Given the description of an element on the screen output the (x, y) to click on. 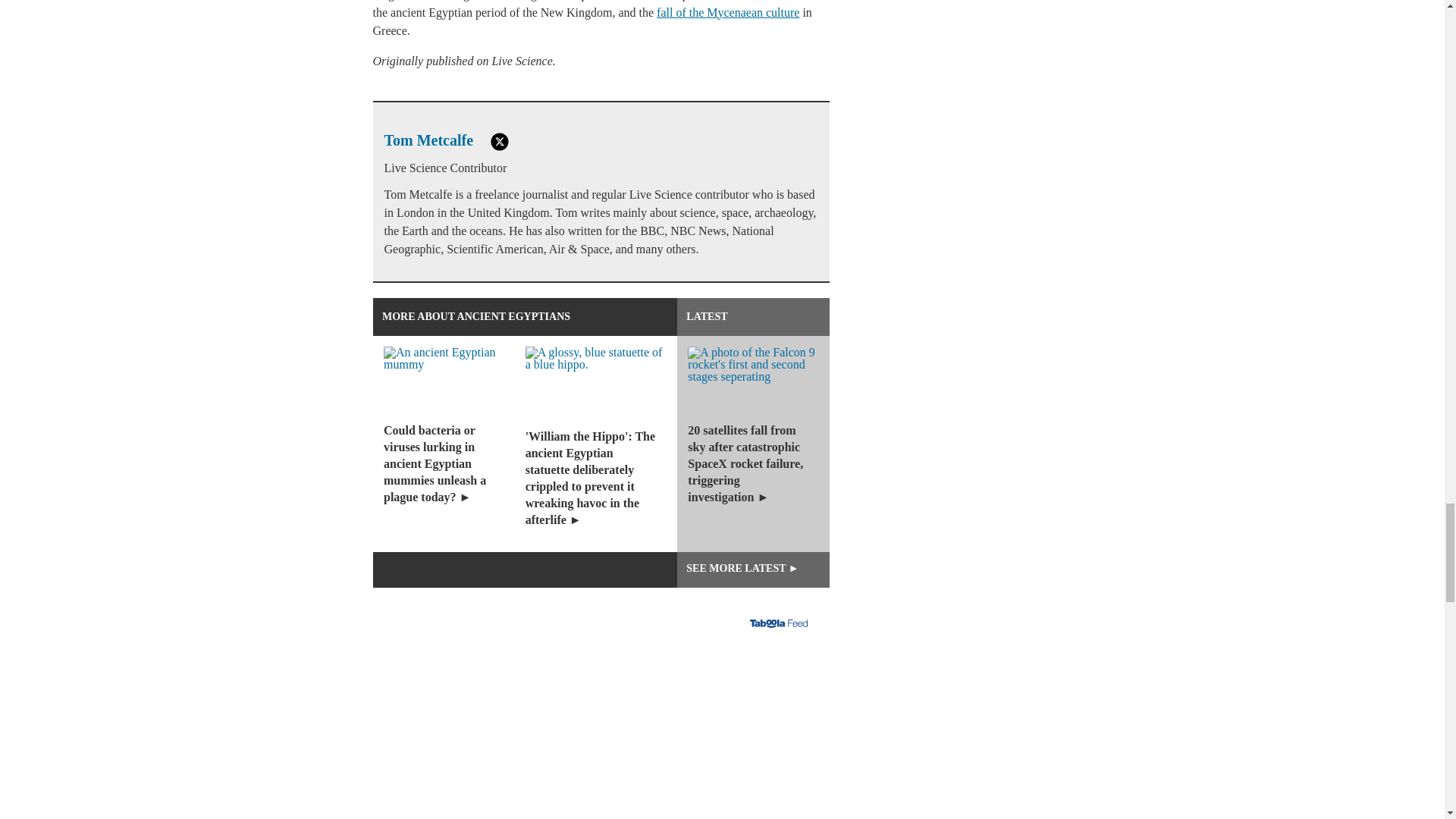
Man Hides Webcam and Catches Housekeeper Doing... (600, 727)
